Given the description of an element on the screen output the (x, y) to click on. 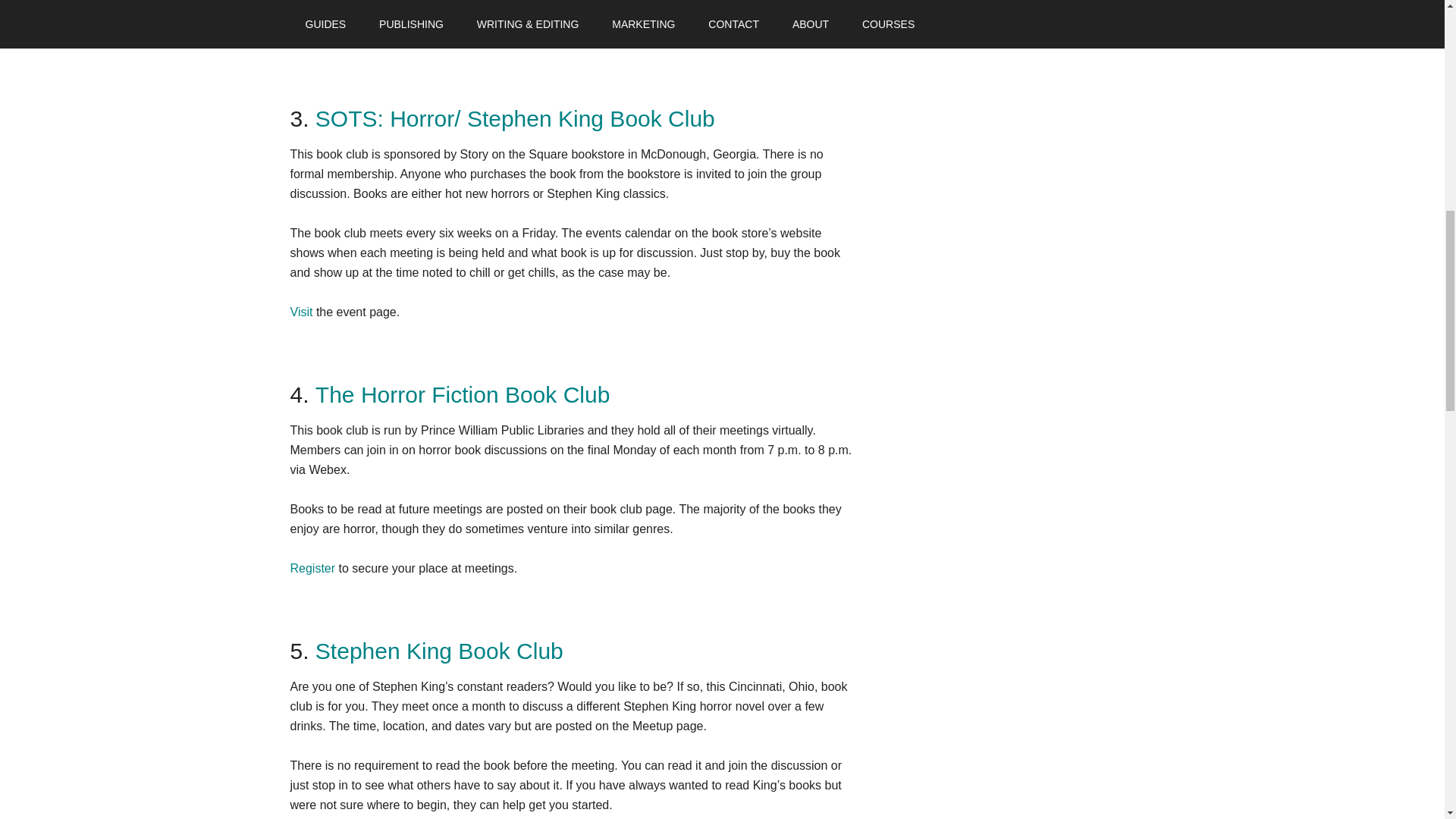
Register (311, 567)
The Horror Fiction Book Club (462, 394)
Stephen King Book Club (439, 650)
Visit (301, 311)
Find (301, 35)
